Given the description of an element on the screen output the (x, y) to click on. 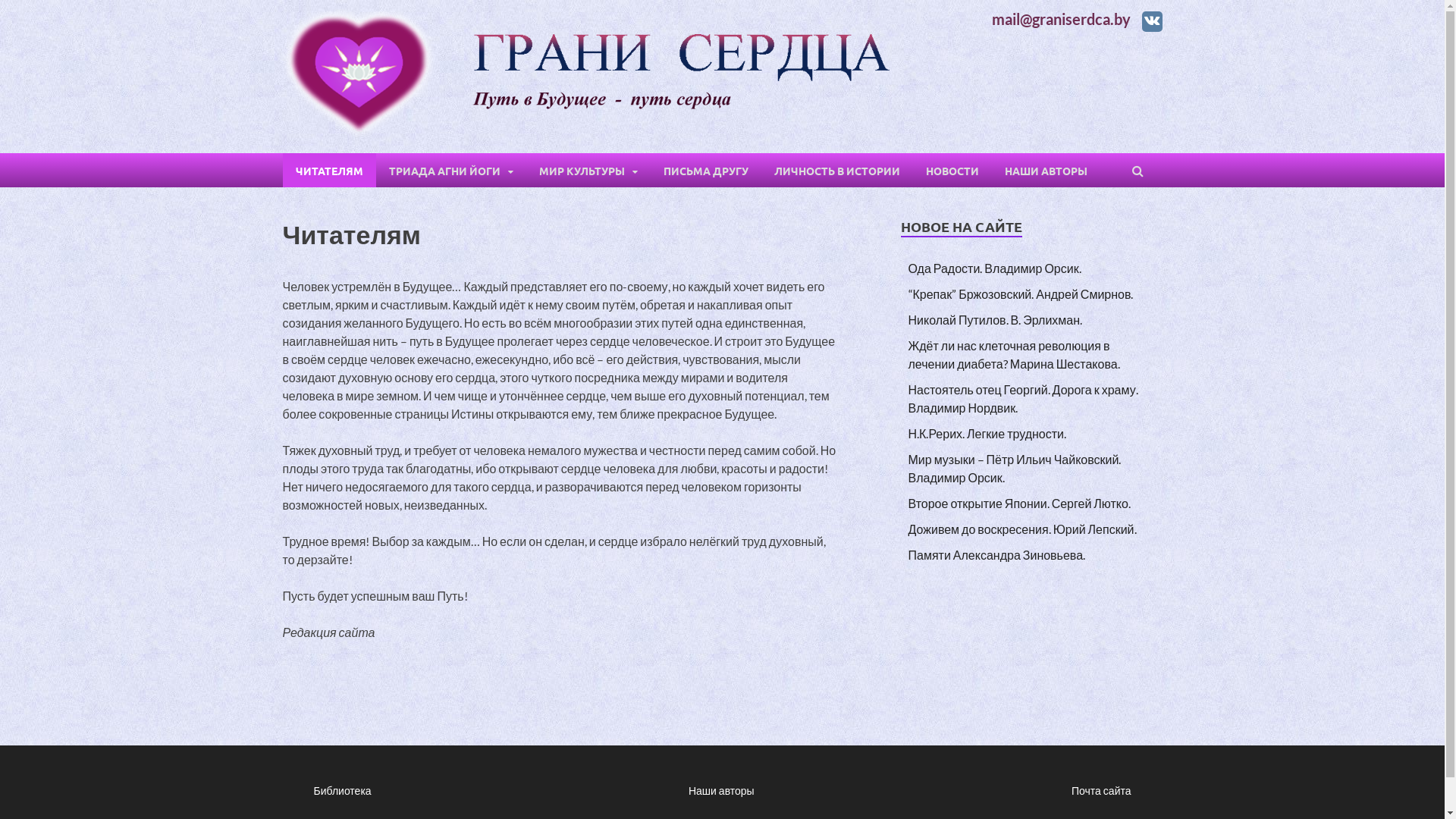
mail@graniserdca.by Element type: text (1060, 18)
